Given the description of an element on the screen output the (x, y) to click on. 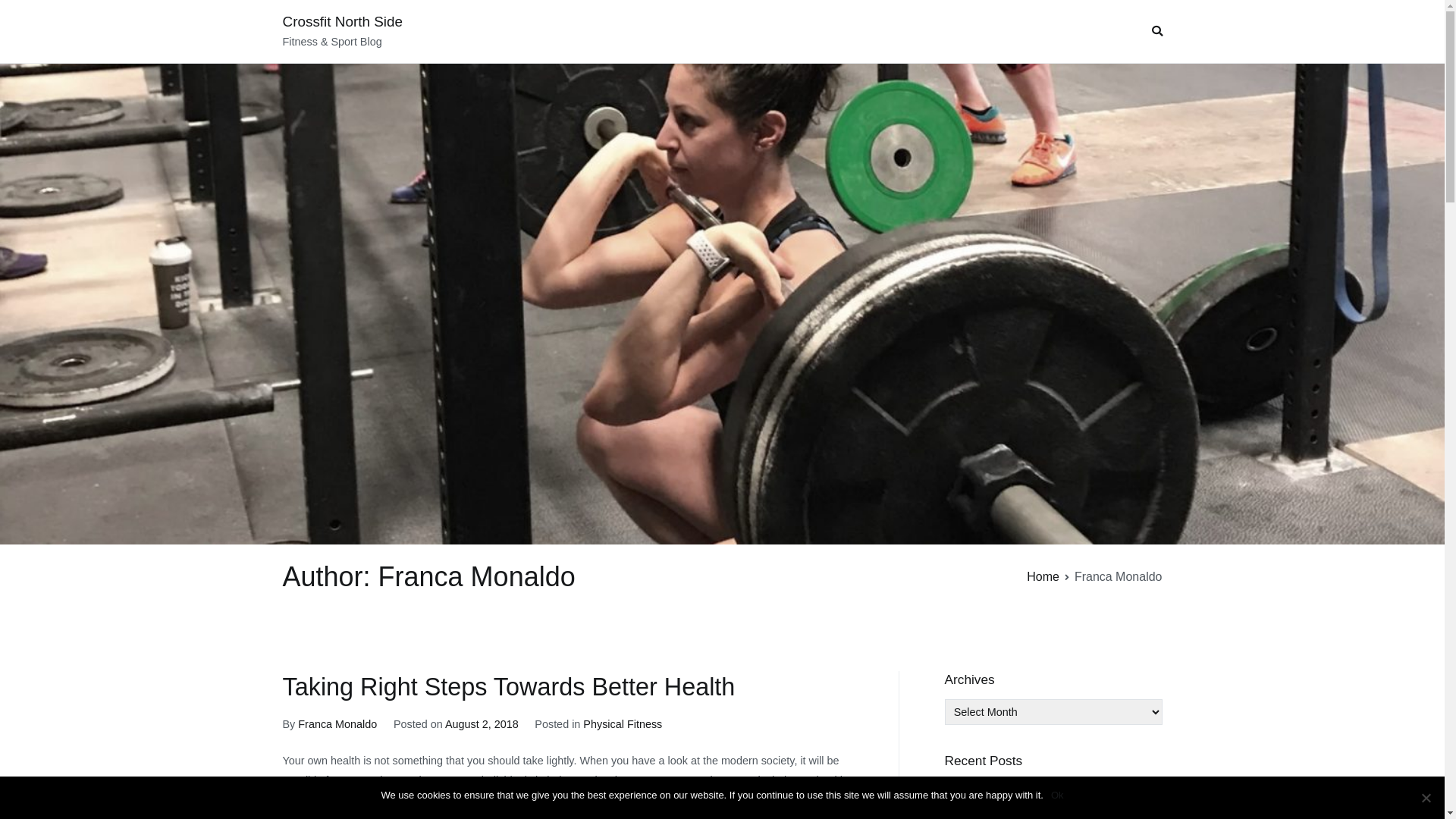
Physical Fitness Element type: text (622, 724)
Crossfit North Side Element type: text (342, 21)
Franca Monaldo Element type: text (337, 724)
Home Element type: text (1042, 576)
Taking Right Steps Towards Better Health Element type: text (1053, 795)
August 2, 2018 Element type: text (481, 724)
Ok Element type: text (1057, 795)
Taking Right Steps Towards Better Health Element type: text (508, 686)
No Element type: hover (1425, 797)
